Given the description of an element on the screen output the (x, y) to click on. 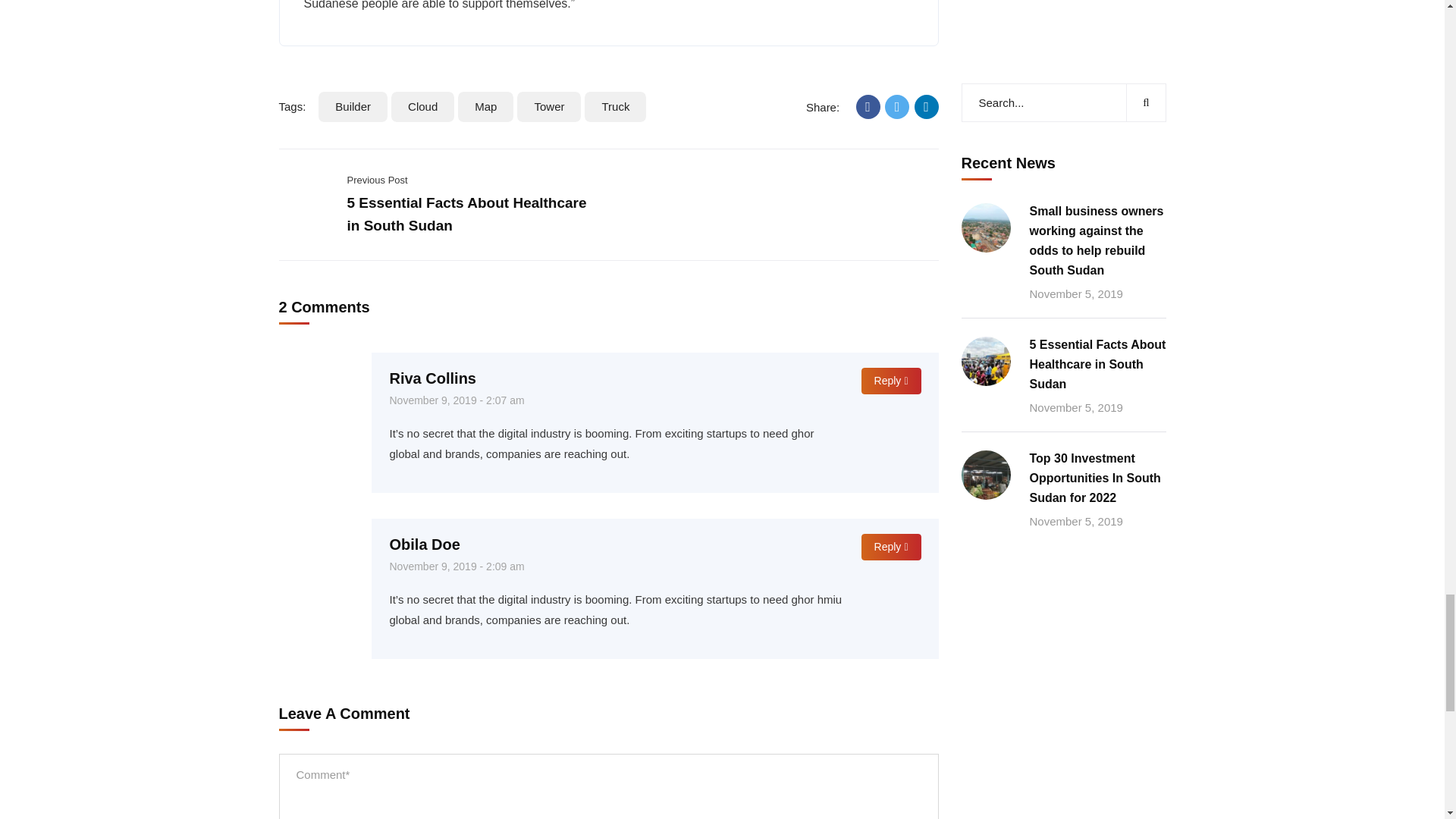
LinkedIn (926, 106)
Facebook (868, 106)
Twitter (896, 106)
Tower (548, 106)
Cloud (422, 106)
Builder (352, 106)
Truck (615, 106)
Map (485, 106)
